Given the description of an element on the screen output the (x, y) to click on. 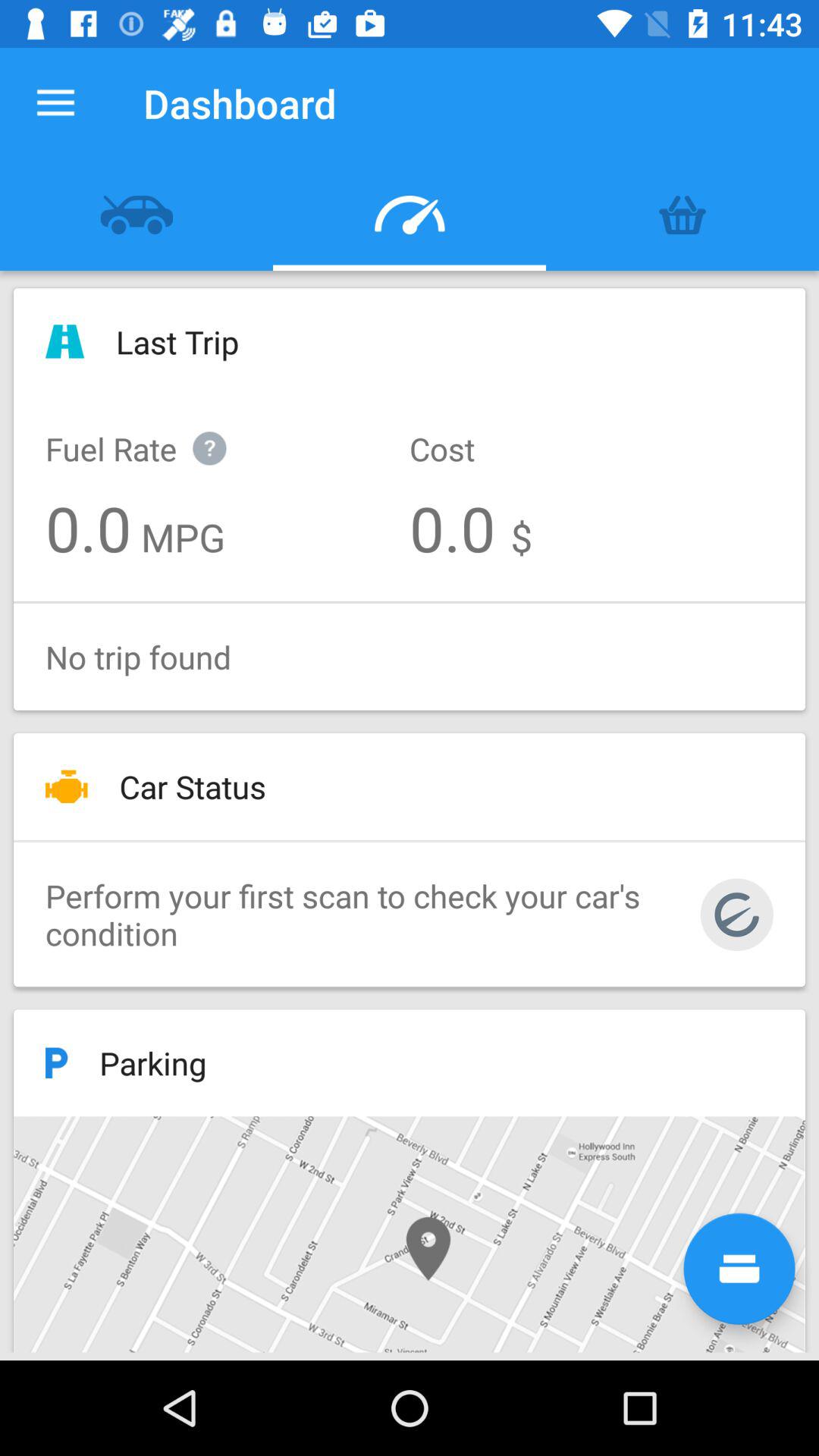
press icon next to cost item (151, 432)
